Given the description of an element on the screen output the (x, y) to click on. 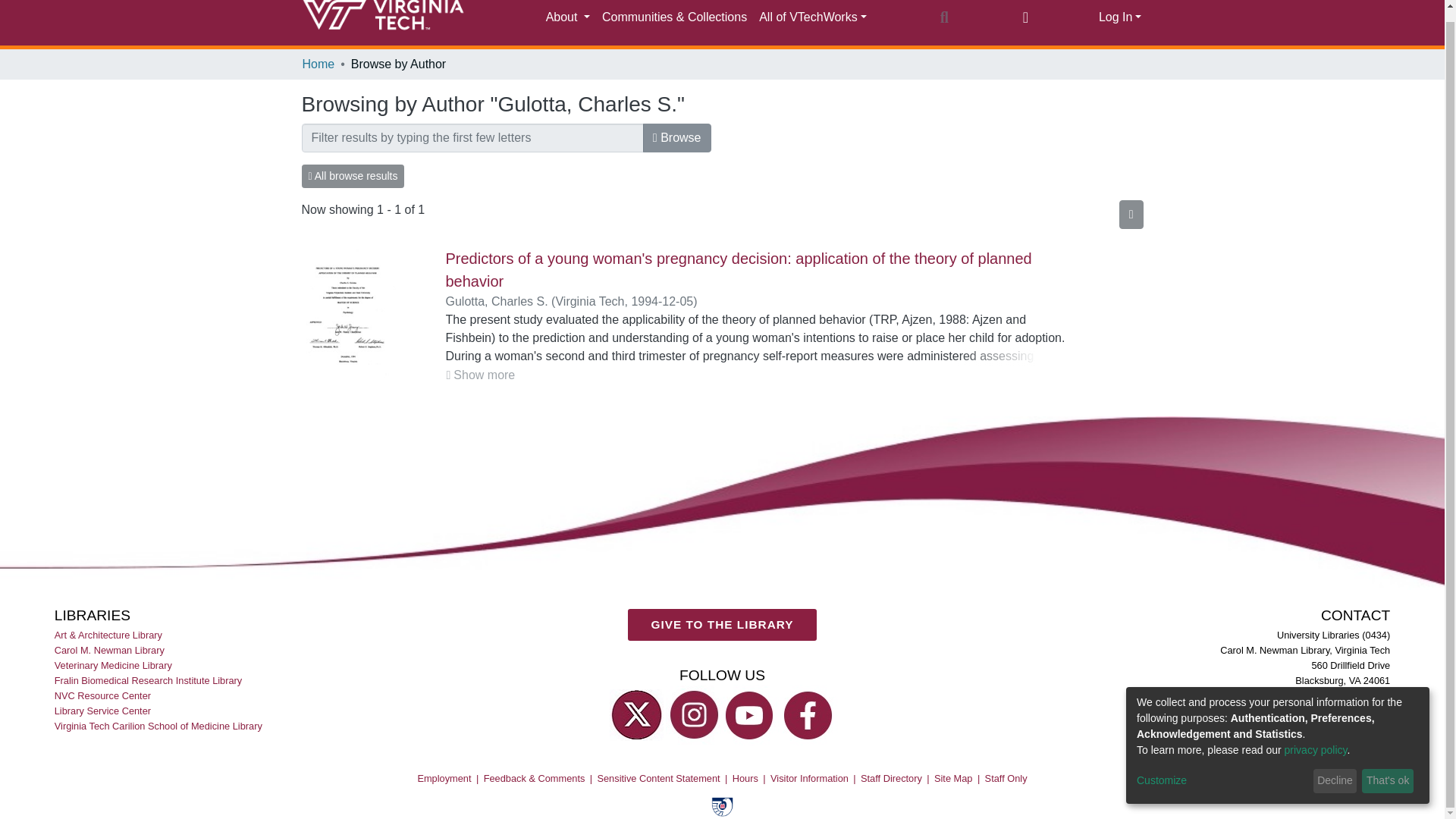
Language switch (1025, 17)
Home (317, 64)
Browse (677, 137)
About (567, 17)
All browse results (352, 176)
Search (943, 17)
All of VTechWorks (812, 17)
Log In (1119, 16)
